Given the description of an element on the screen output the (x, y) to click on. 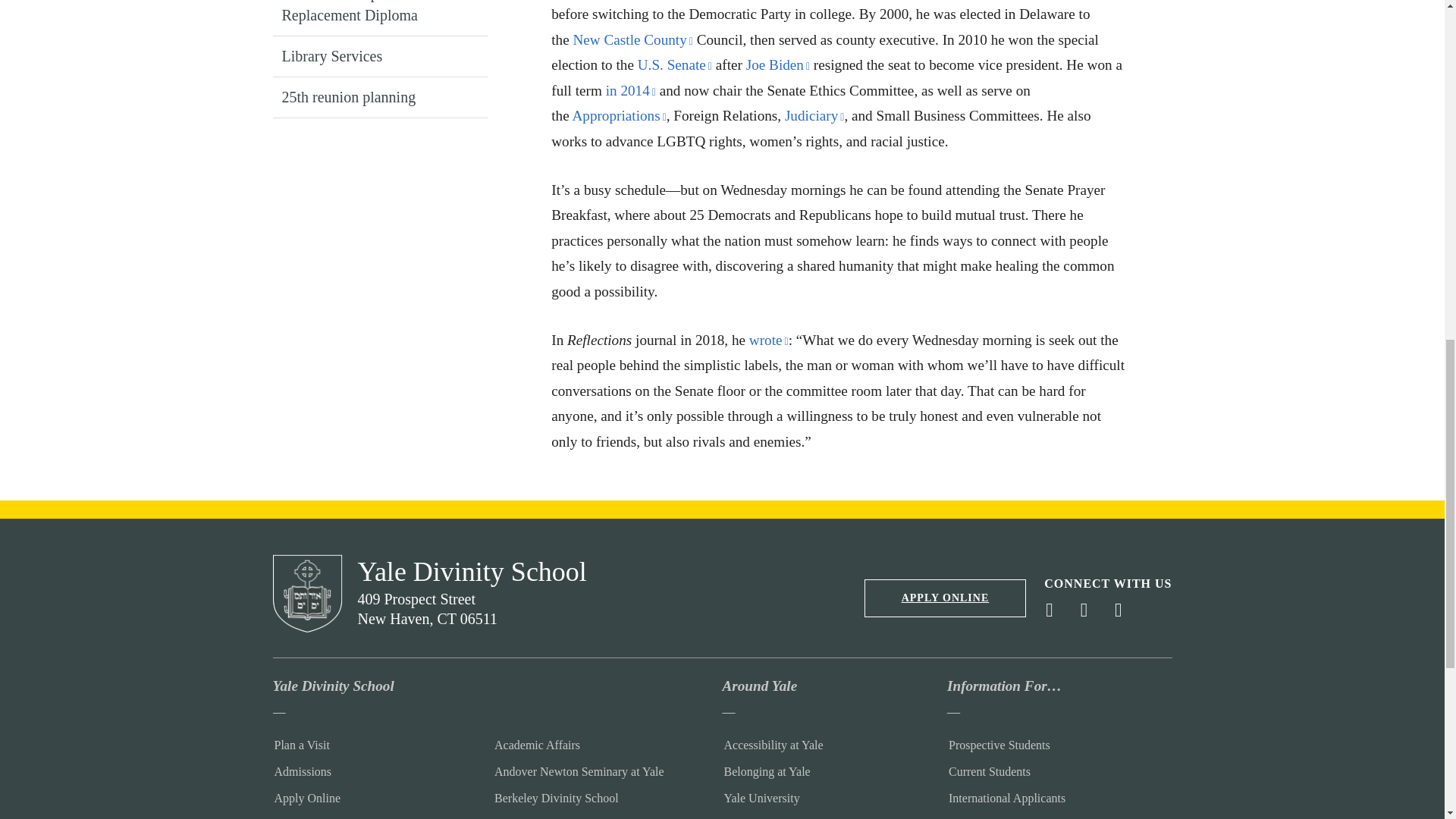
United States Senate Committee on the Judiciary (814, 115)
New Castle County, Delaware (633, 39)
Joe Biden (777, 64)
U.S. Senate (674, 64)
Instagram (1091, 609)
United States Senate Committee on Appropriations (618, 115)
United States Senate election in Delaware, 2014 (630, 90)
Facebook (1056, 609)
YouTube (1125, 609)
